Given the description of an element on the screen output the (x, y) to click on. 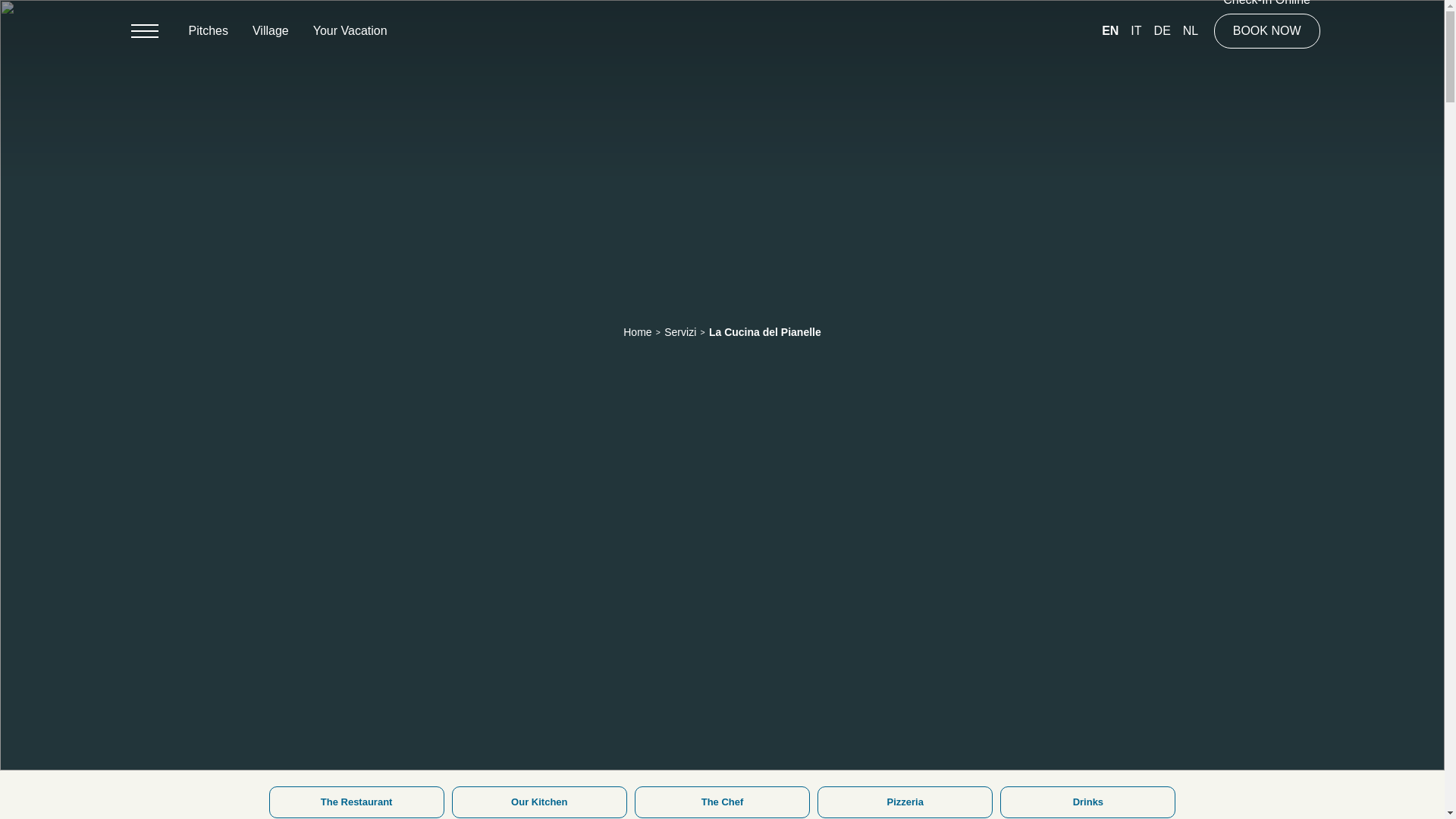
Village (270, 30)
NL (1190, 30)
The Chef (721, 802)
DE (1162, 30)
BOOK NOW (1267, 30)
Pizzeria (904, 802)
Drinks (1087, 802)
Pitches (208, 30)
Check-In Online (1267, 2)
Our Kitchen (539, 802)
The Restaurant (356, 802)
Your Vacation (349, 30)
